Given the description of an element on the screen output the (x, y) to click on. 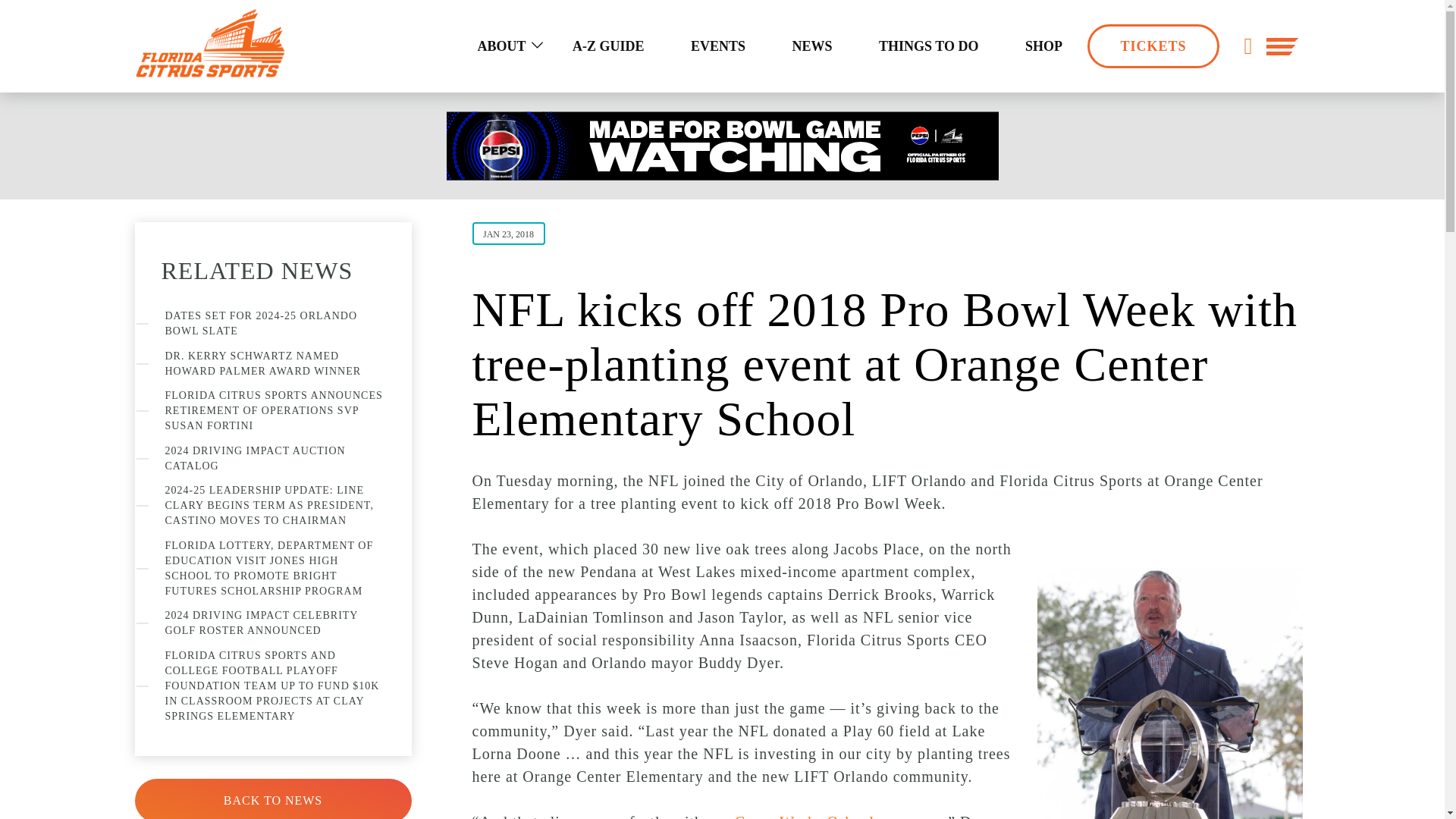
NEWS (812, 46)
A-Z GUIDE (608, 46)
ABOUT (501, 46)
TICKETS (1152, 45)
SHOP (1043, 46)
THINGS TO DO (927, 46)
EVENTS (718, 46)
